Given the description of an element on the screen output the (x, y) to click on. 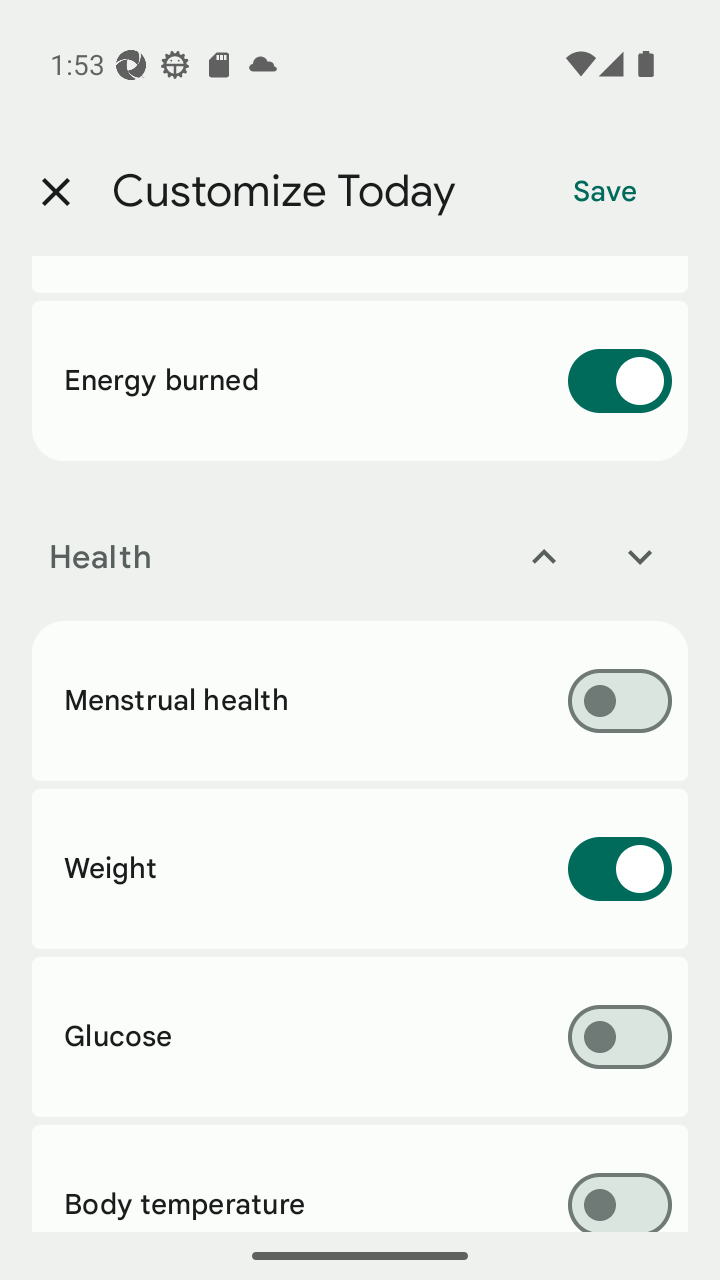
Close (55, 191)
Save (605, 191)
Energy burned (359, 380)
Move Health up (543, 557)
Move Health down (639, 557)
Menstrual health (359, 700)
Weight (359, 868)
Glucose (359, 1037)
Body temperature (359, 1178)
